Given the description of an element on the screen output the (x, y) to click on. 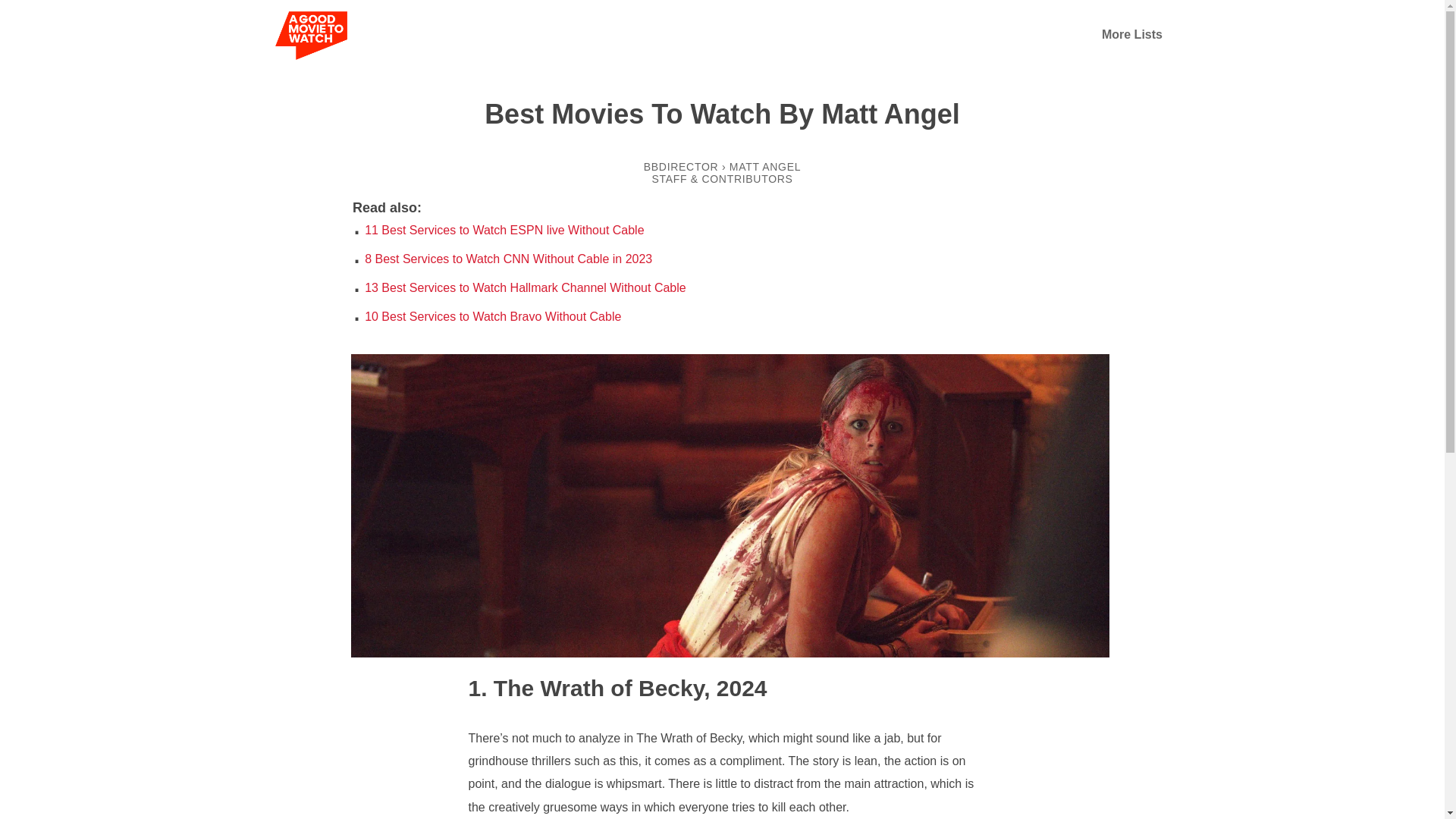
More Lists (1132, 34)
The Wrath of Becky (586, 687)
